Given the description of an element on the screen output the (x, y) to click on. 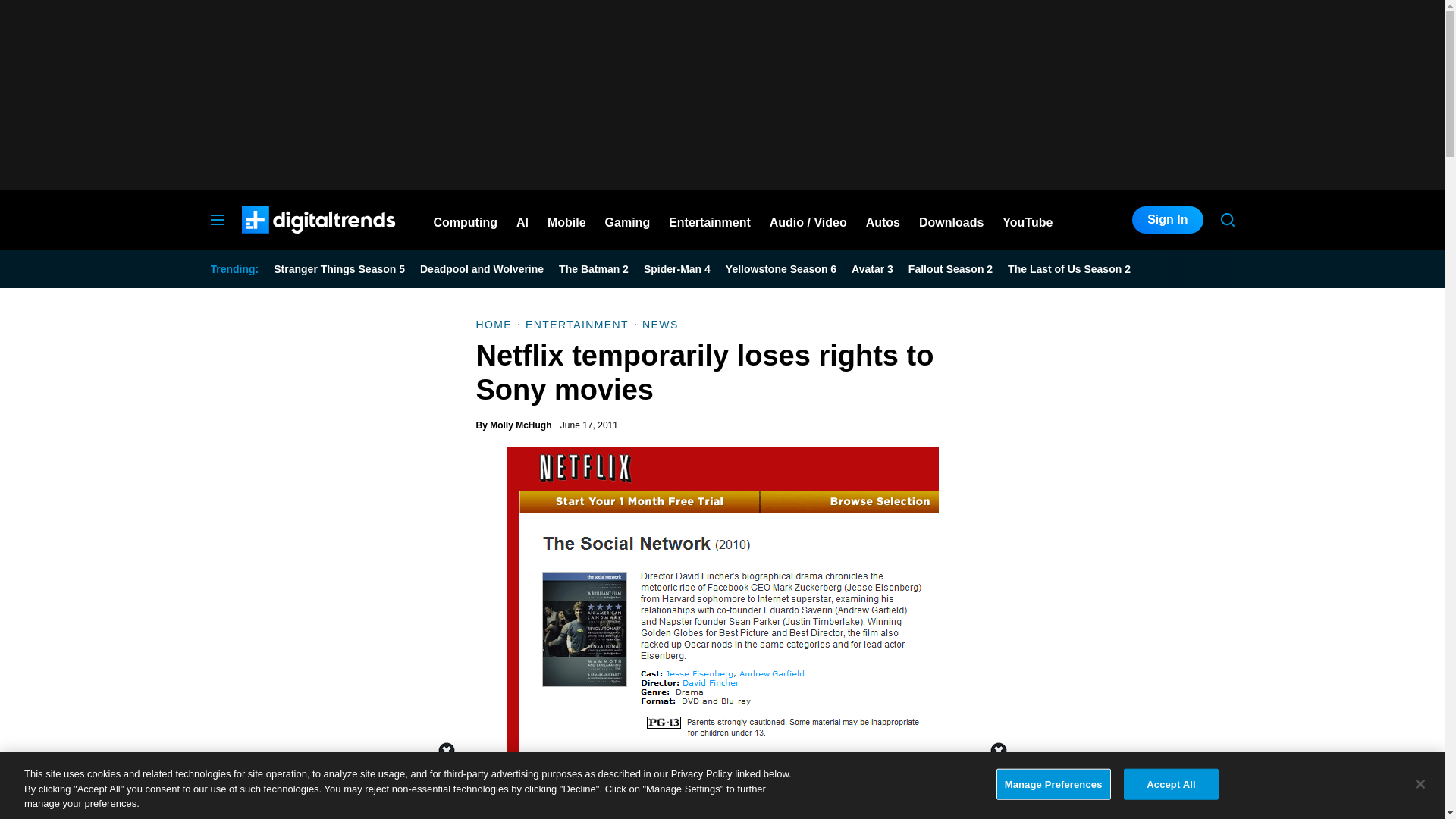
Computing (465, 219)
3rd party ad content (721, 94)
3rd party ad content (721, 785)
Downloads (951, 219)
Entertainment (709, 219)
Sign In (1167, 219)
